Given the description of an element on the screen output the (x, y) to click on. 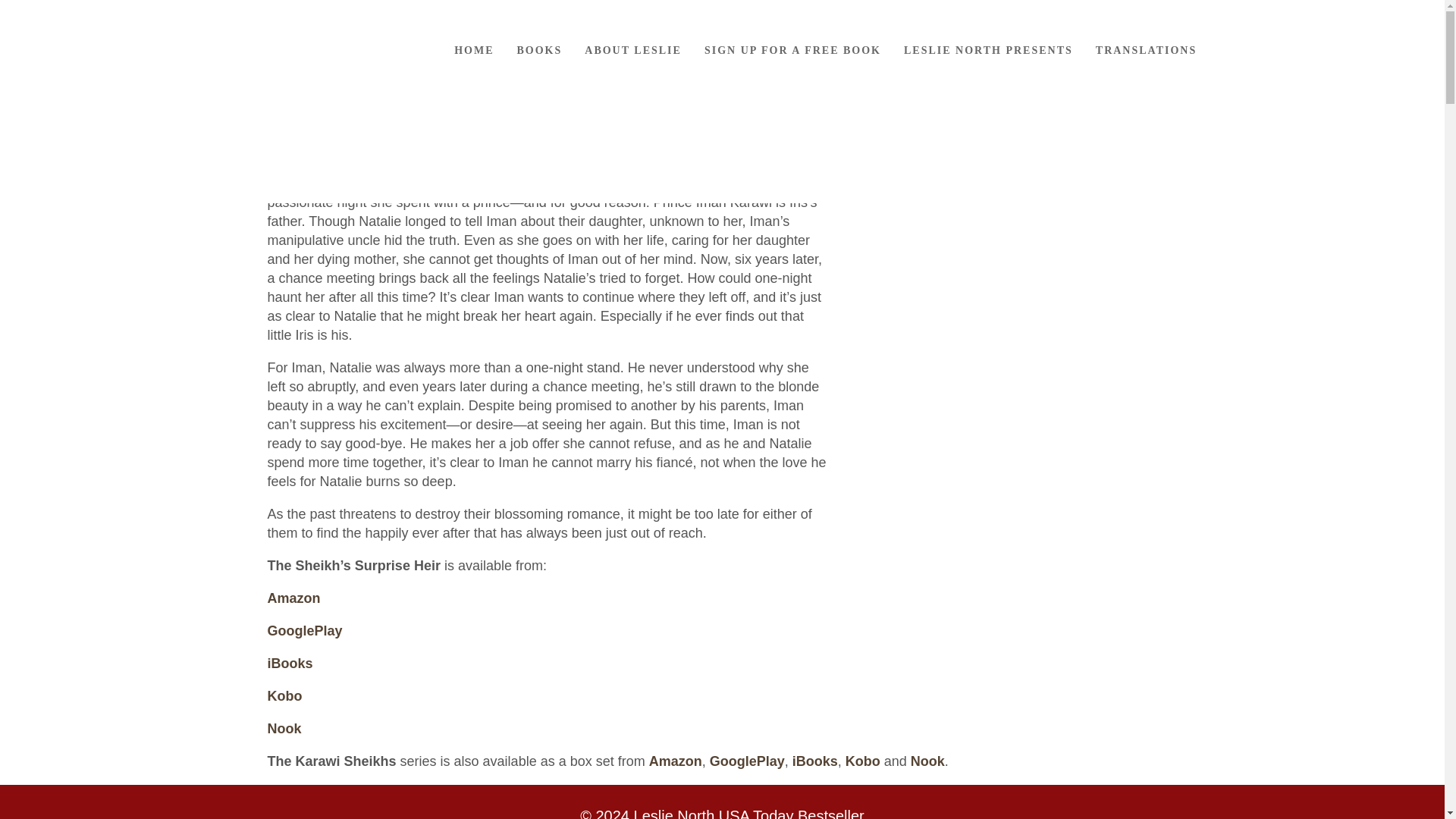
ABOUT LESLIE (633, 50)
SIGN UP FOR A FREE BOOK (792, 50)
HOME (473, 50)
TRANSLATIONS (1146, 50)
BOOKS (539, 50)
LESLIE NORTH PRESENTS (988, 50)
